Given the description of an element on the screen output the (x, y) to click on. 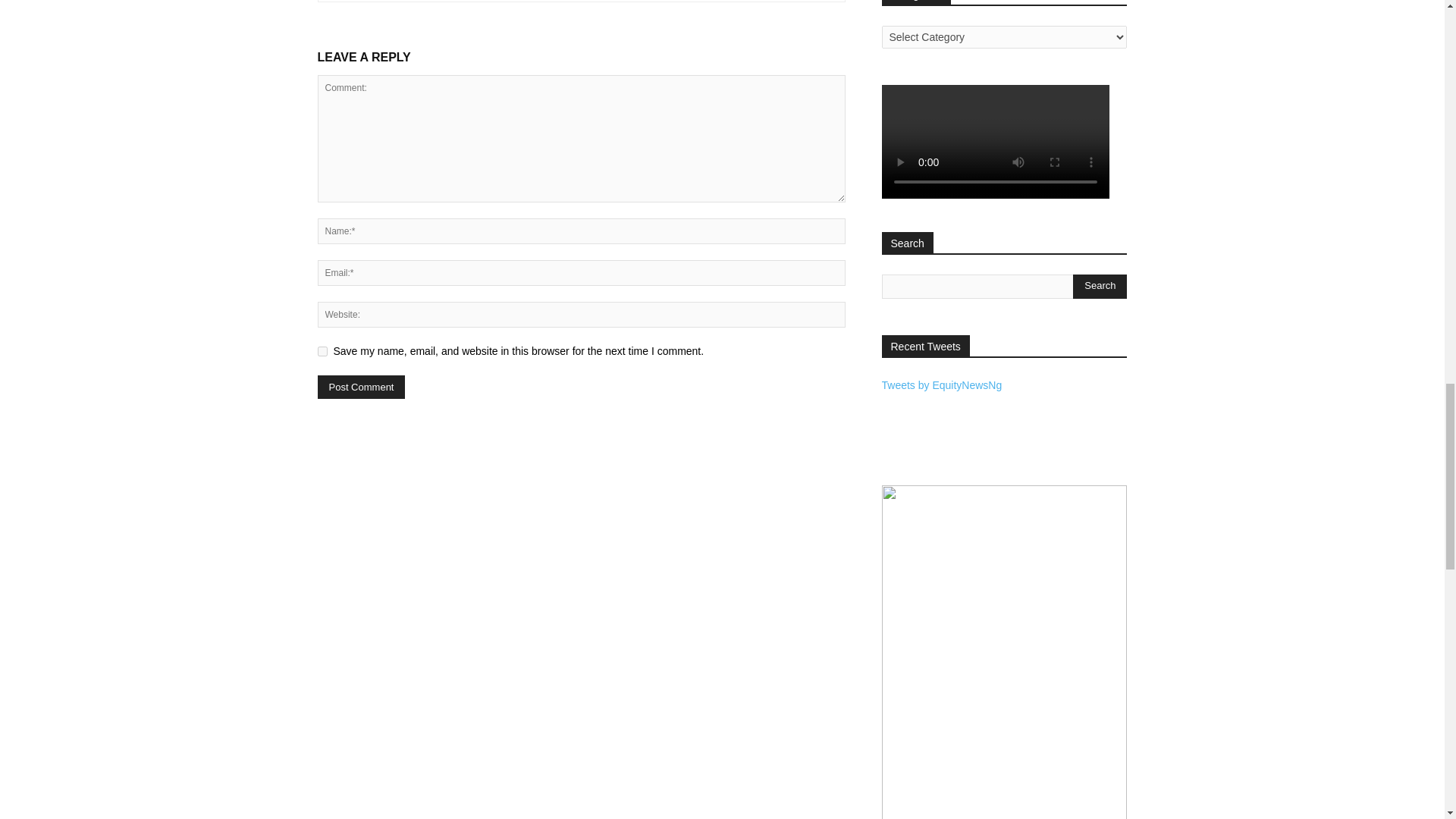
Search (1099, 286)
Post Comment (360, 386)
yes (321, 351)
